Given the description of an element on the screen output the (x, y) to click on. 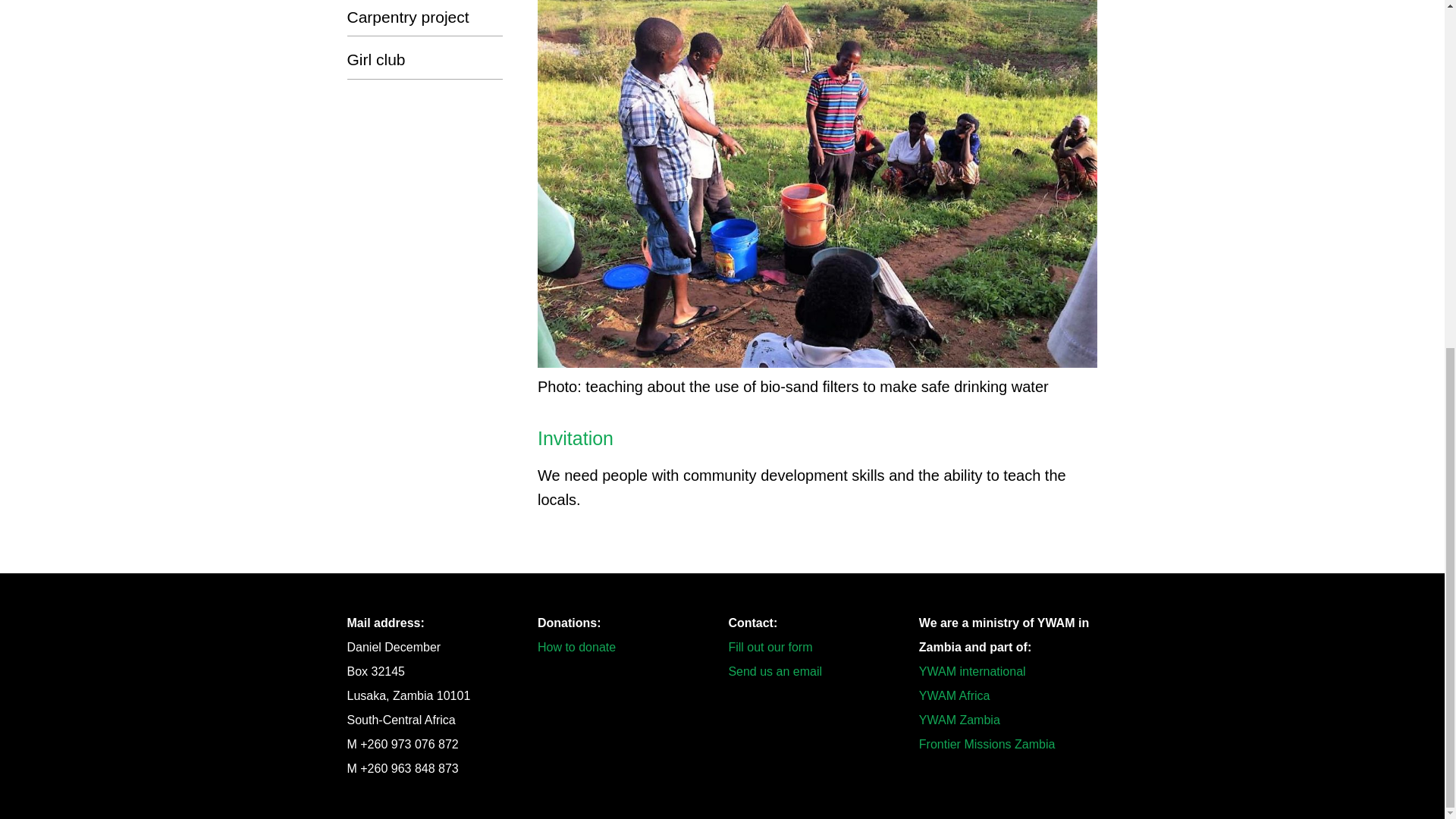
Carpentry project (425, 17)
Girl club (425, 59)
